Given the description of an element on the screen output the (x, y) to click on. 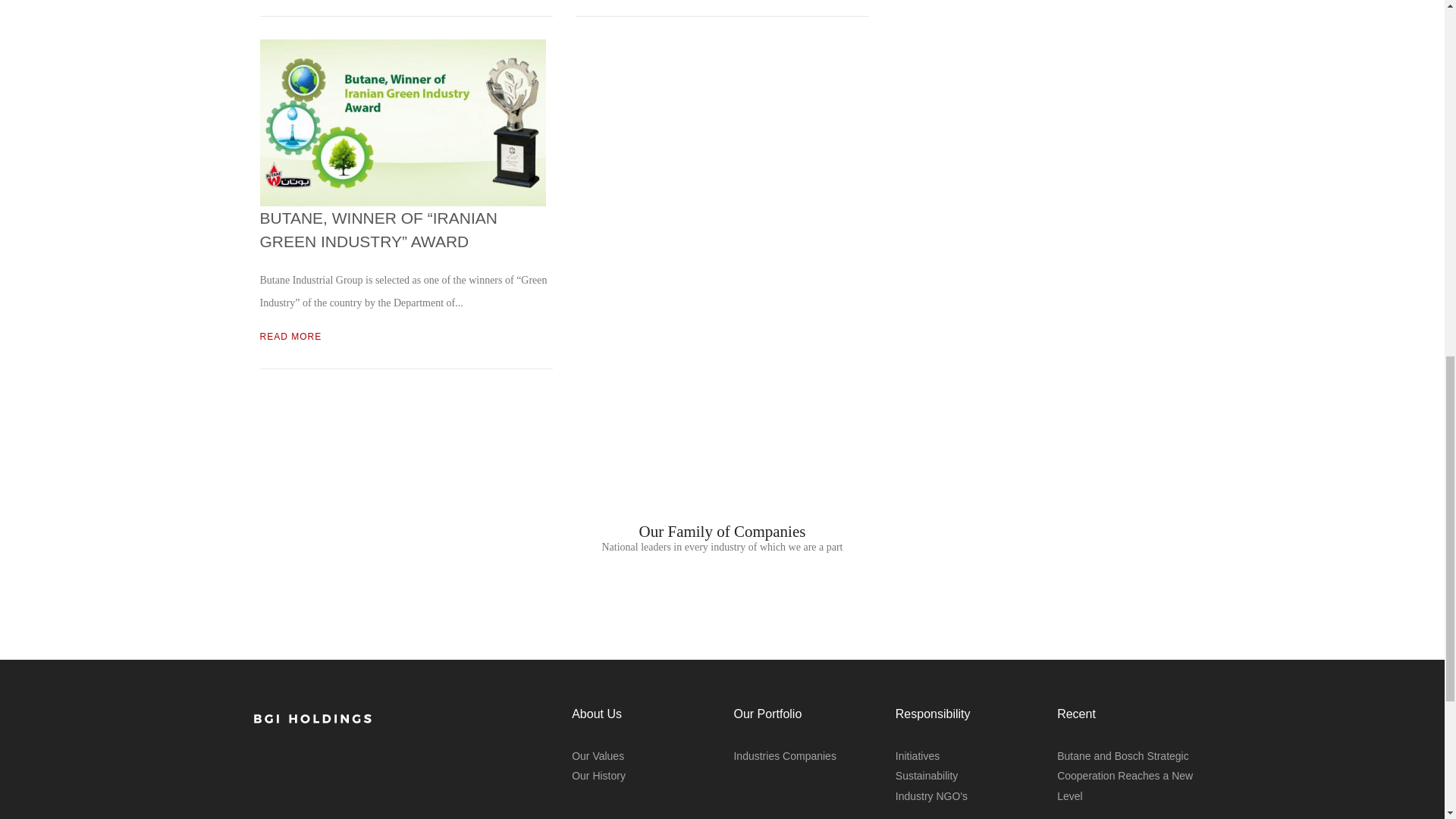
Our History (599, 775)
READ MORE (290, 336)
Our Values (598, 756)
Companies (809, 756)
Initiatives (917, 756)
Industries (755, 756)
